Given the description of an element on the screen output the (x, y) to click on. 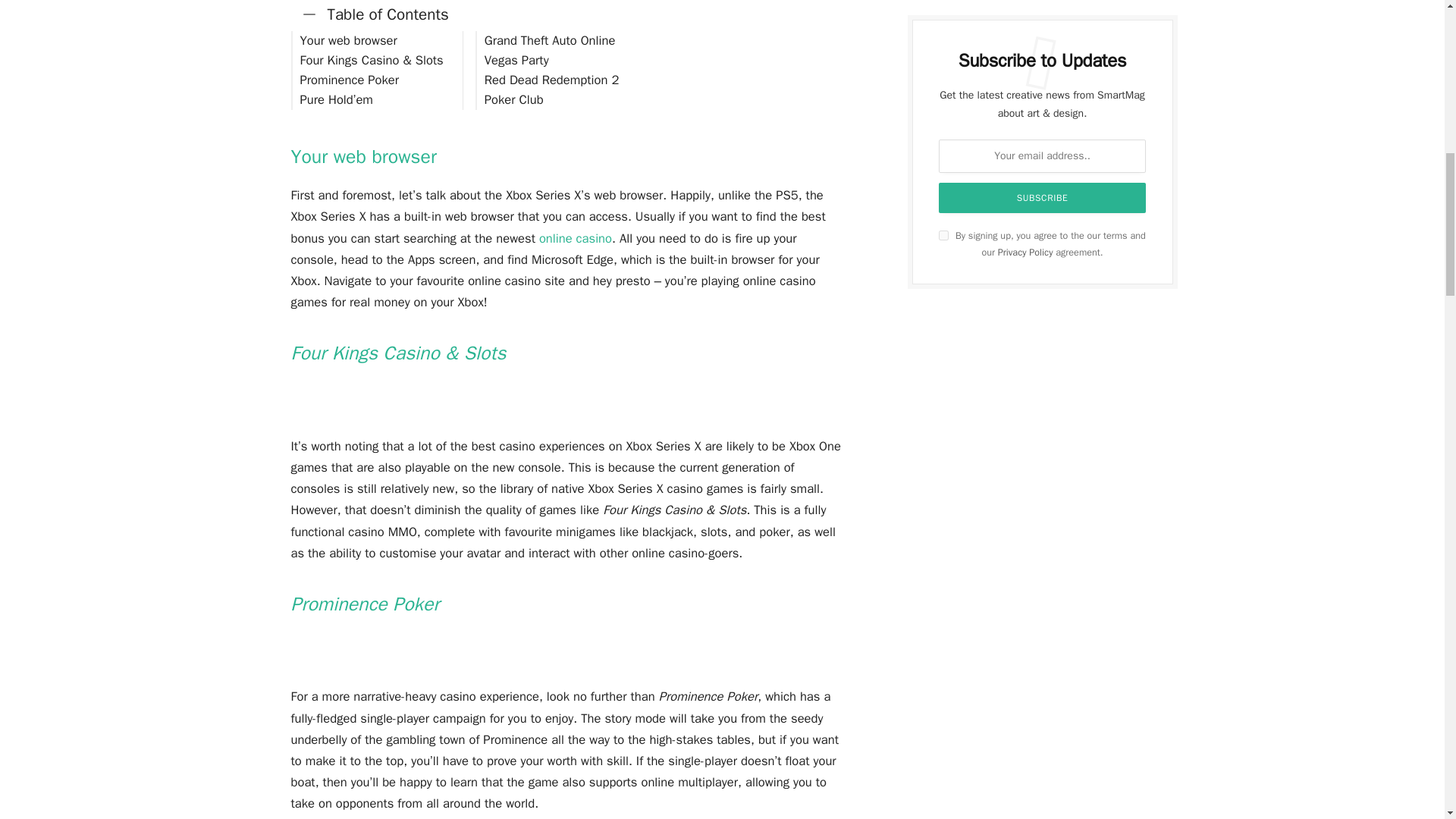
Subscribe (1043, 197)
on (944, 235)
